Given the description of an element on the screen output the (x, y) to click on. 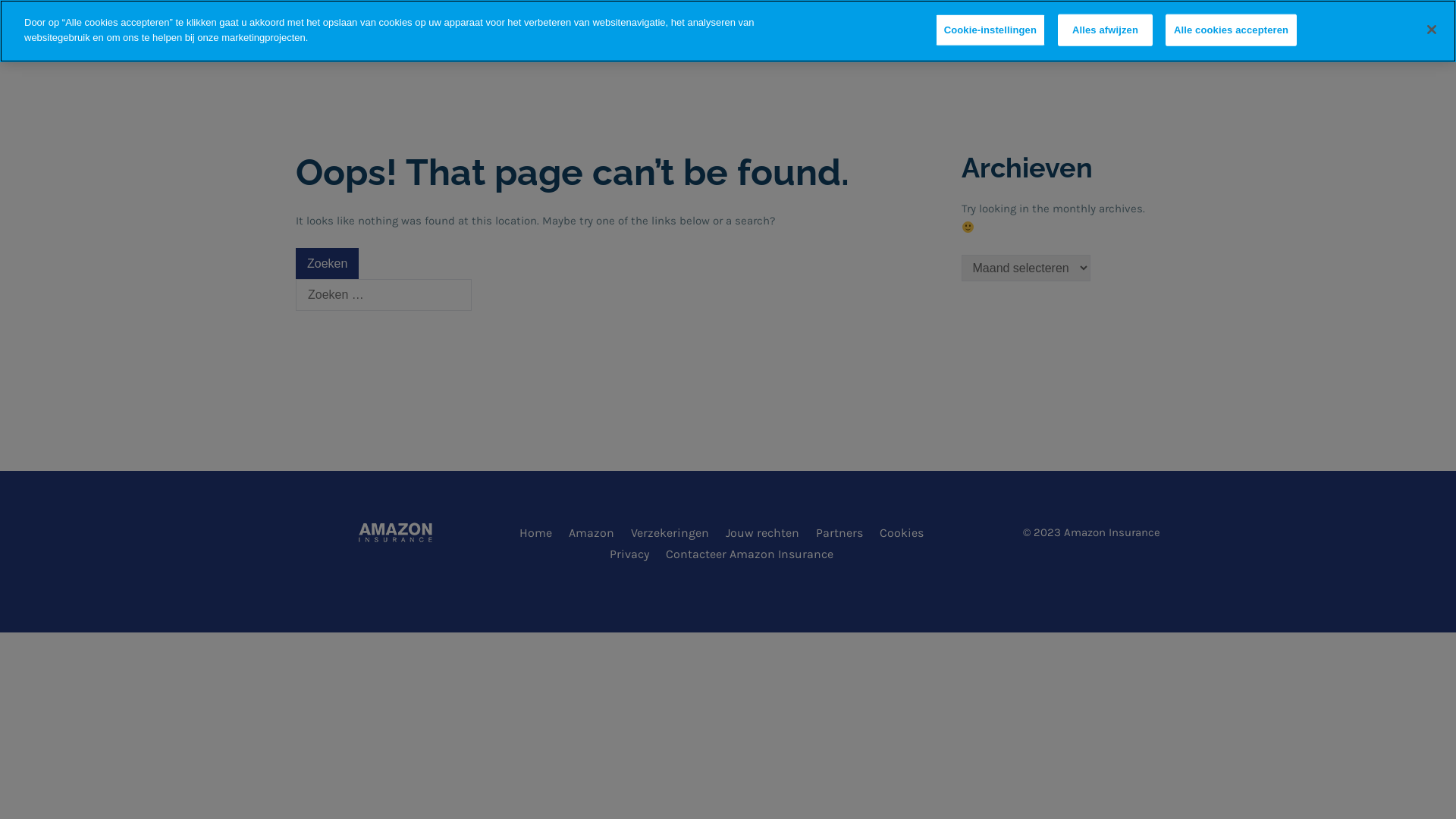
Verzekeringen Element type: text (675, 532)
Zoeken Element type: text (326, 263)
PARTNERS Element type: text (945, 42)
HOME Element type: text (543, 42)
Alle cookies accepteren Element type: text (1230, 30)
Amazon Insurance Element type: hover (358, 38)
FR Element type: text (1101, 42)
Home Element type: text (540, 532)
AMAZON Element type: text (620, 42)
Partners Element type: text (844, 532)
Cookies Element type: text (907, 532)
Cookie-instellingen Element type: text (989, 30)
CONTACT Element type: text (1033, 42)
Privacy Element type: text (634, 554)
Alles afwijzen Element type: text (1104, 30)
JOUW RECHTEN Element type: text (841, 42)
Contacteer Amazon Insurance Element type: text (754, 554)
Jouw rechten Element type: text (766, 532)
Amazon Element type: text (596, 532)
VERZEKERINGEN Element type: text (722, 42)
